Given the description of an element on the screen output the (x, y) to click on. 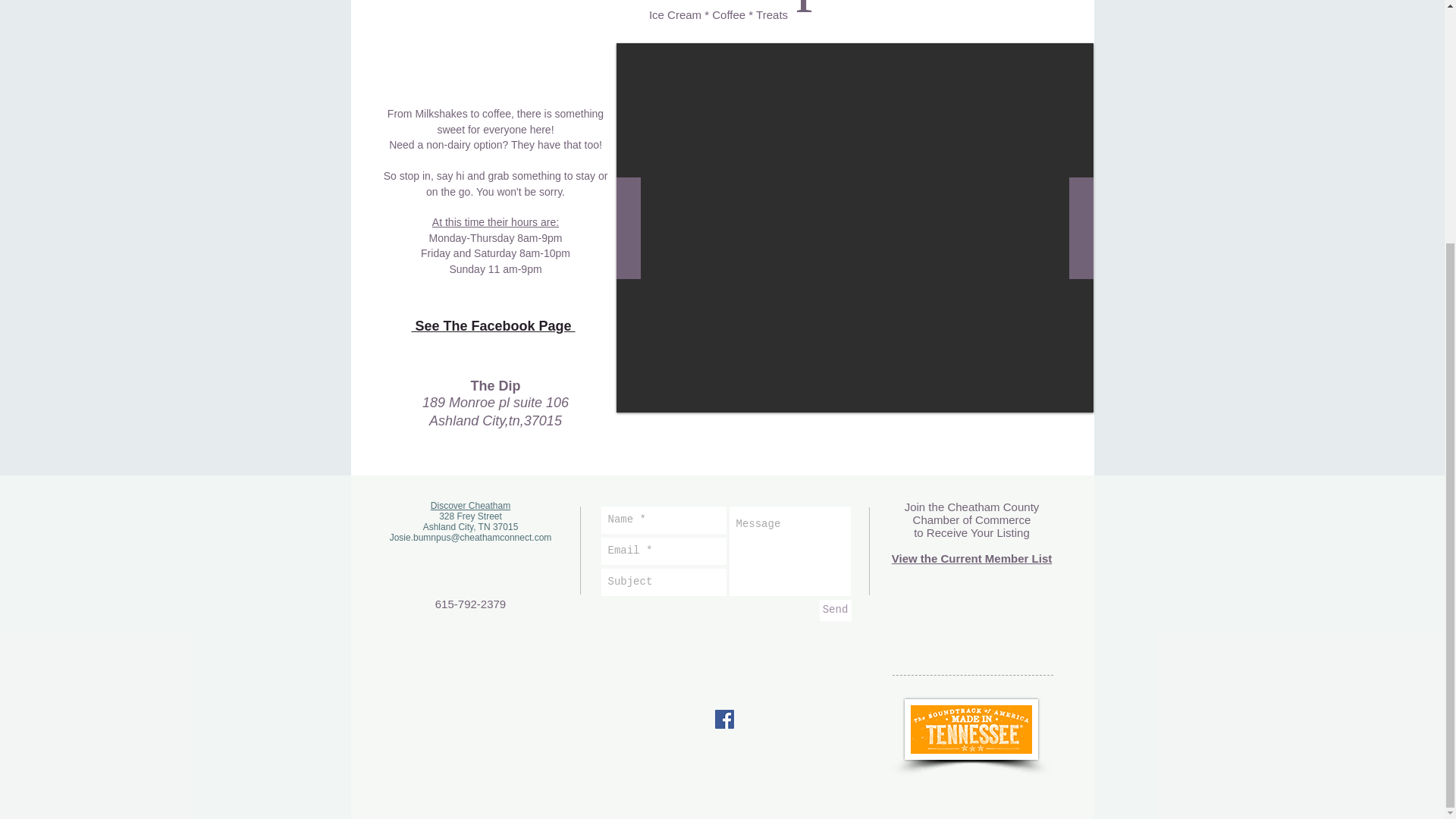
 See The Facebook Page  (492, 325)
Send (834, 609)
View the Current Member List (971, 558)
Discover Cheatham (470, 505)
